Given the description of an element on the screen output the (x, y) to click on. 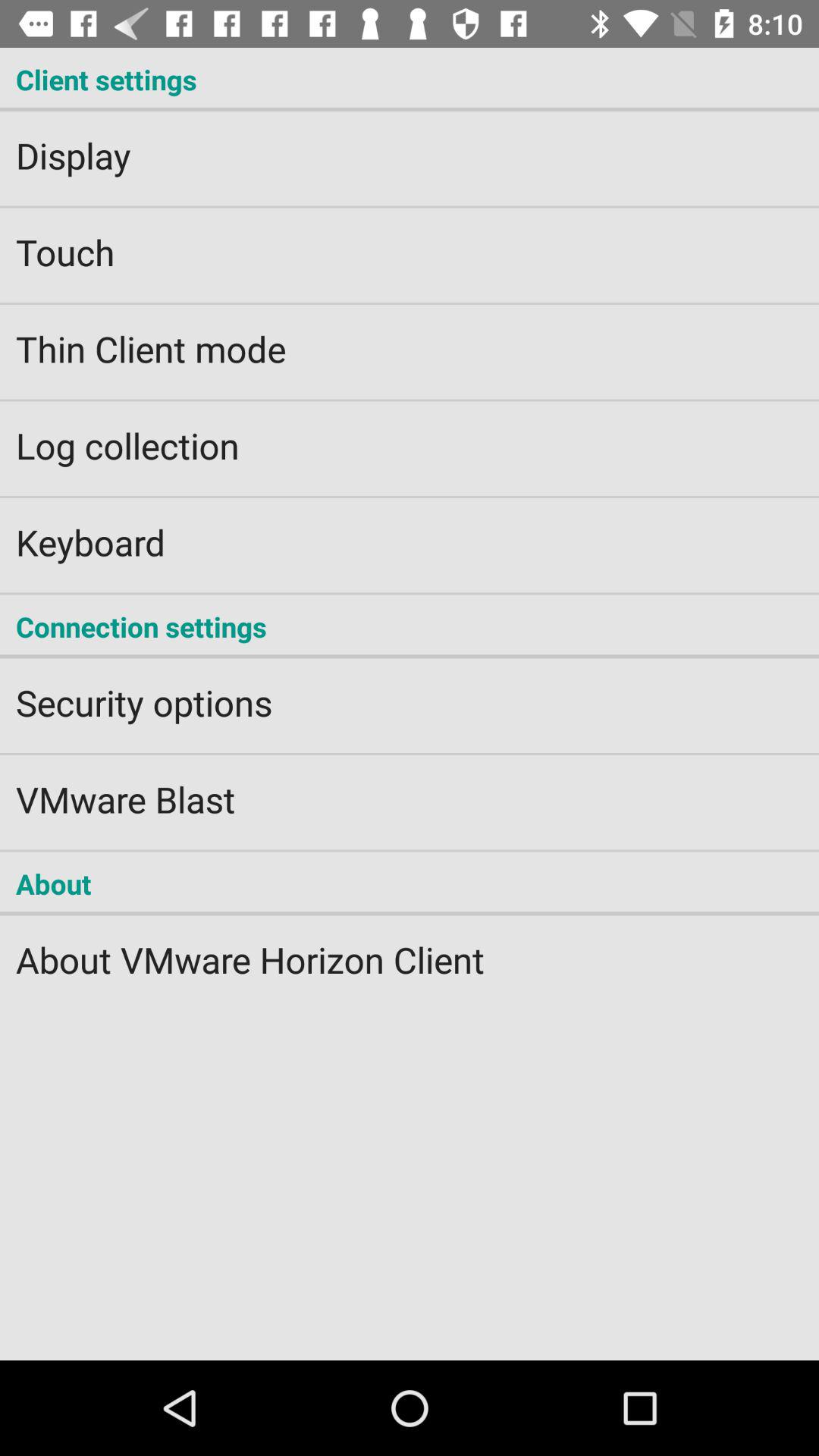
choose icon above display icon (409, 79)
